Given the description of an element on the screen output the (x, y) to click on. 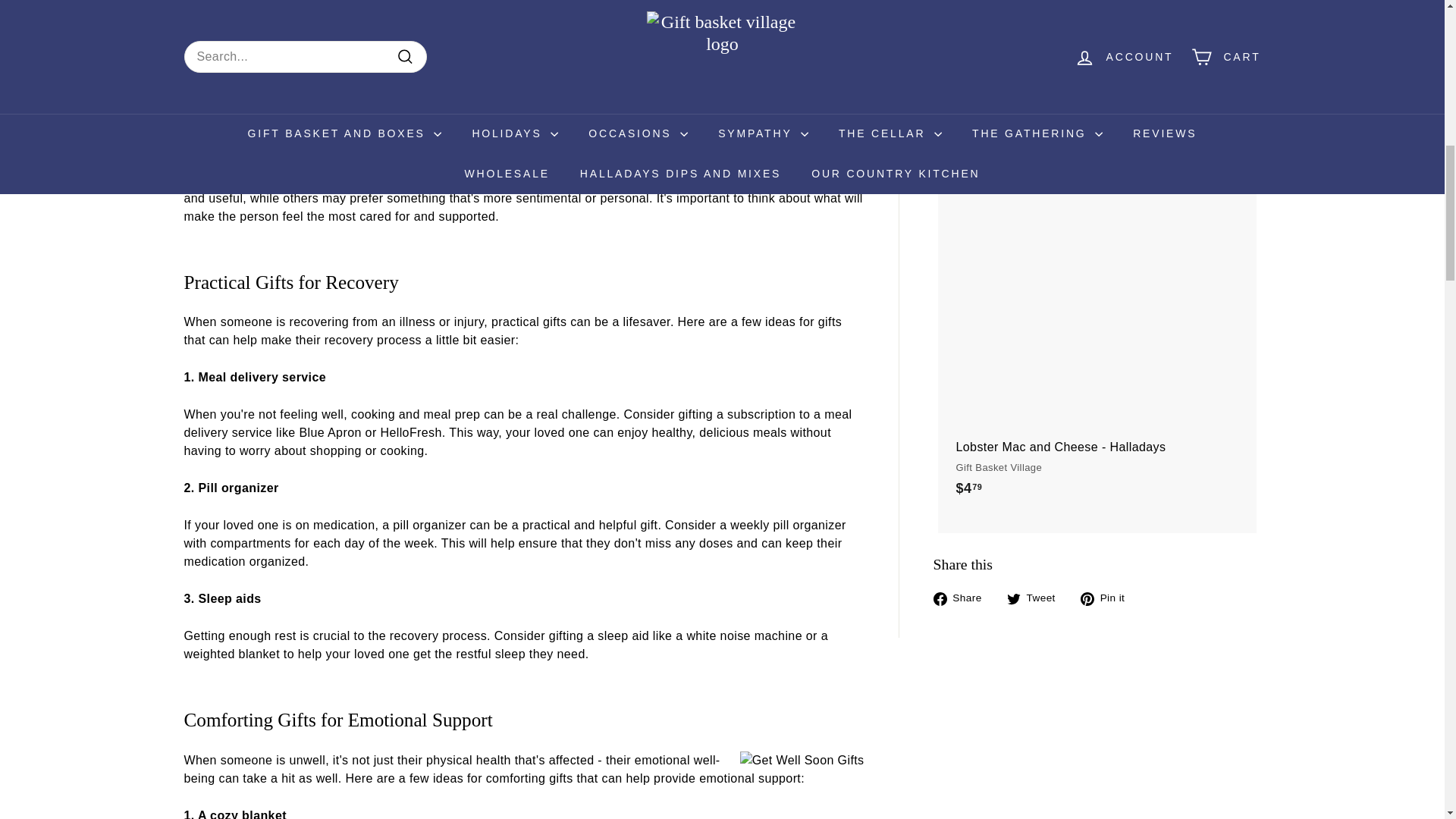
twitter (1013, 599)
